Given the description of an element on the screen output the (x, y) to click on. 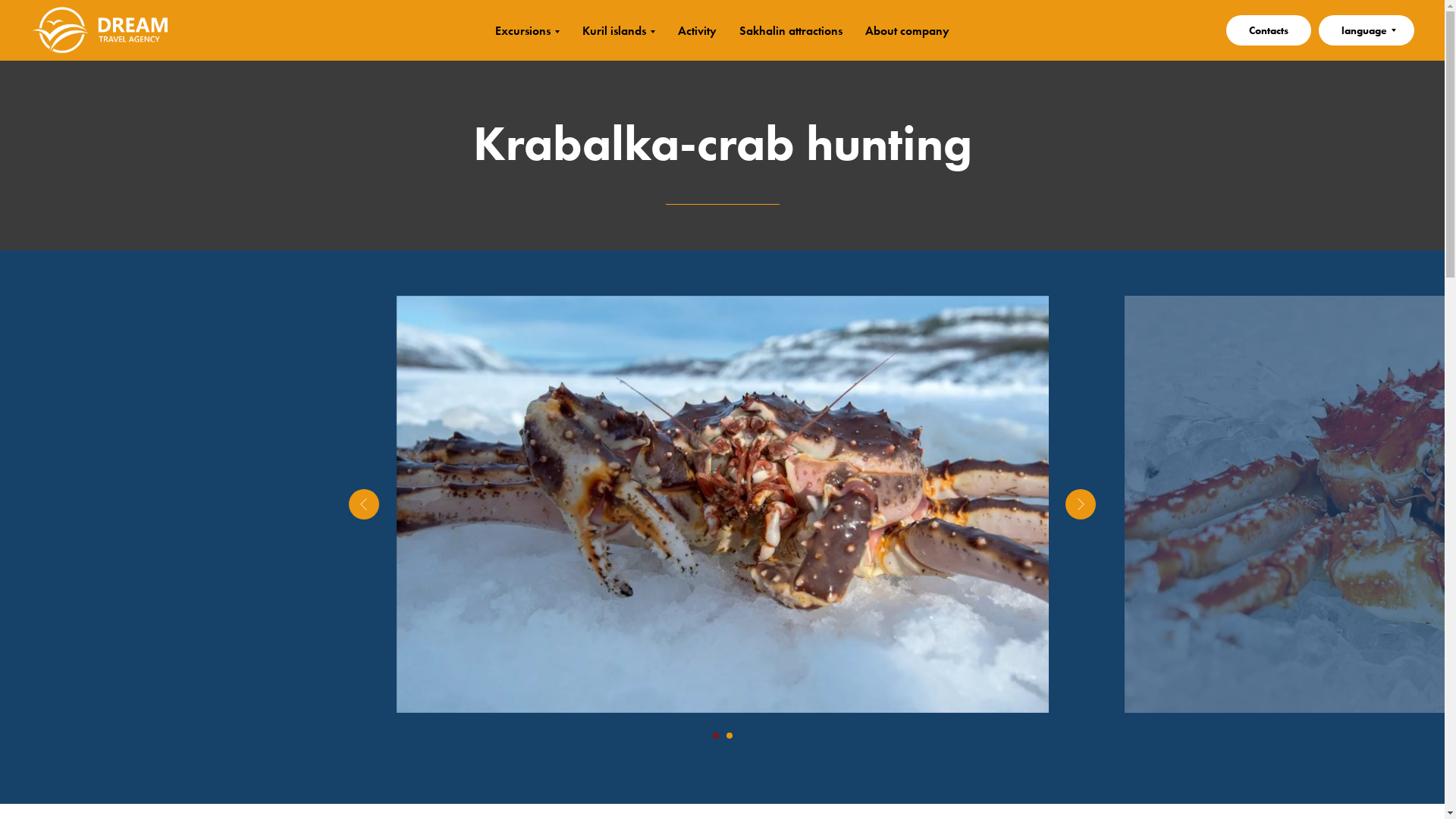
Excursions (527, 30)
Sakhalin attractions (791, 30)
About company (906, 30)
Contacts (1268, 30)
Kuril islands (618, 30)
language (1366, 30)
Activity (697, 30)
